Given the description of an element on the screen output the (x, y) to click on. 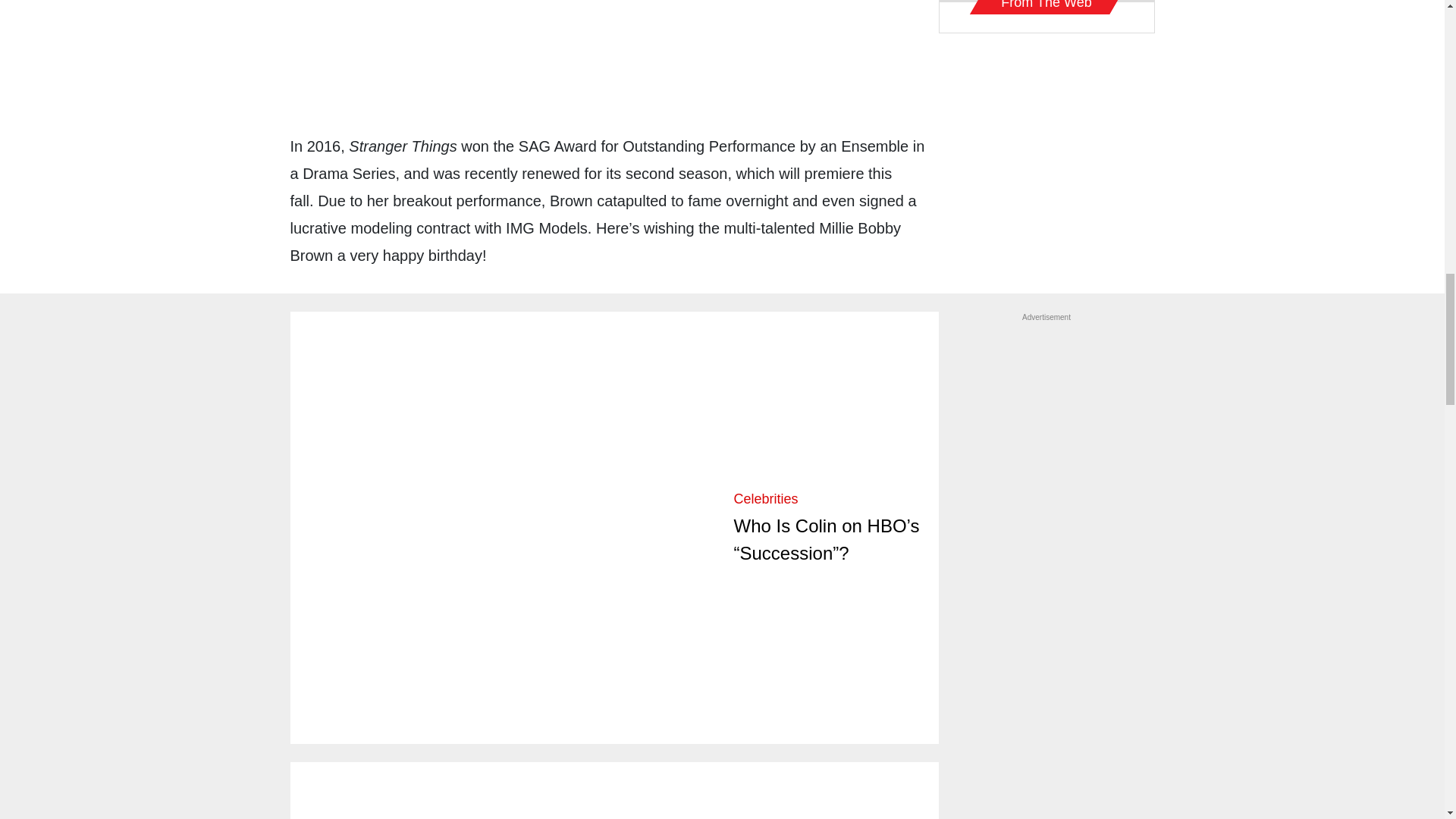
Category Name (765, 498)
Celebrities (765, 498)
